Given the description of an element on the screen output the (x, y) to click on. 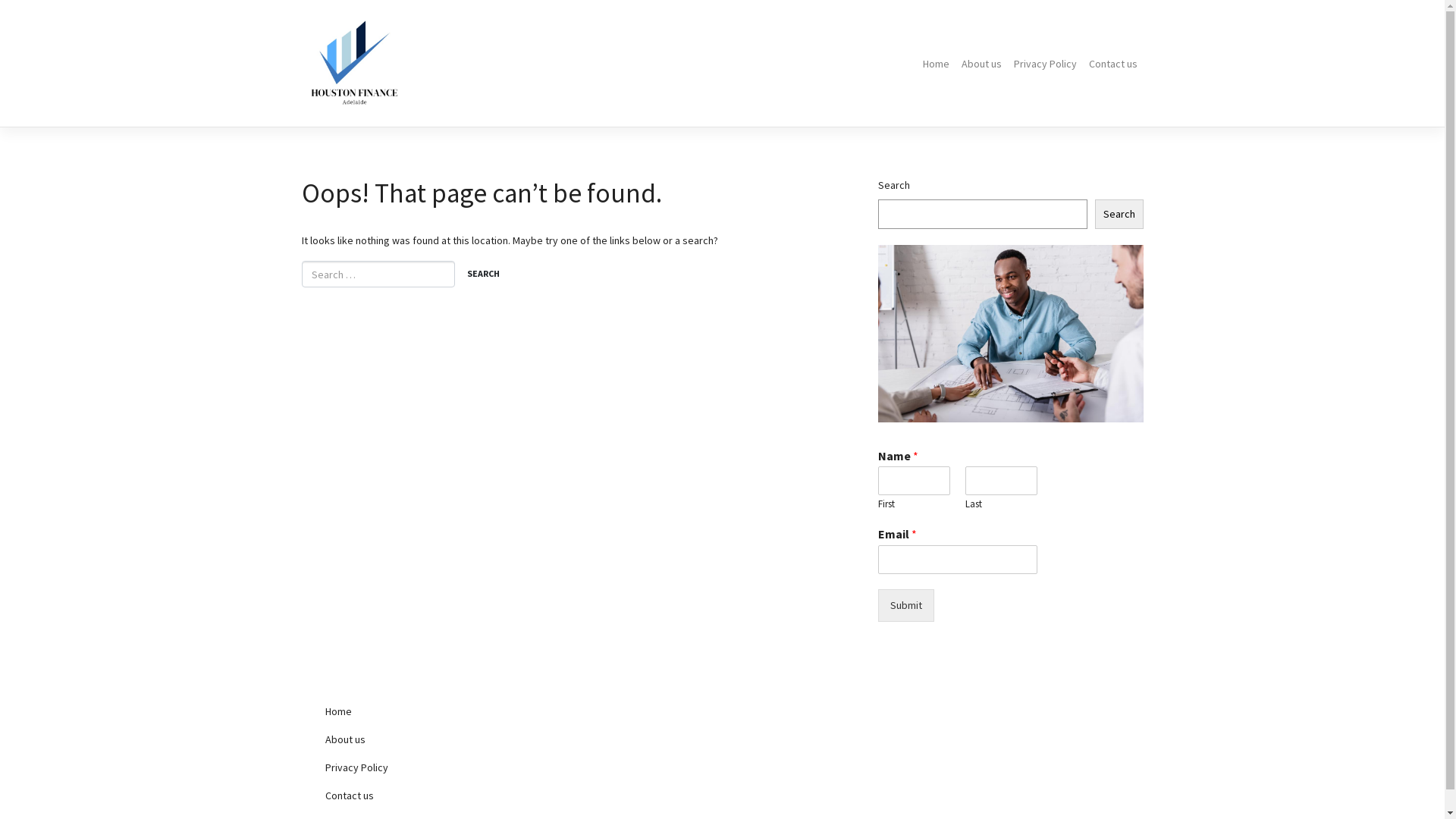
Contact us Element type: text (1112, 64)
Search Element type: text (1119, 214)
Home Element type: text (441, 711)
About us Element type: text (441, 739)
Privacy Policy Element type: text (1044, 64)
Search for: Element type: hover (378, 273)
Contact us Element type: text (441, 795)
Home Element type: text (935, 64)
Search Element type: text (482, 275)
Submit Element type: text (906, 605)
Privacy Policy Element type: text (441, 767)
About us Element type: text (981, 64)
